Given the description of an element on the screen output the (x, y) to click on. 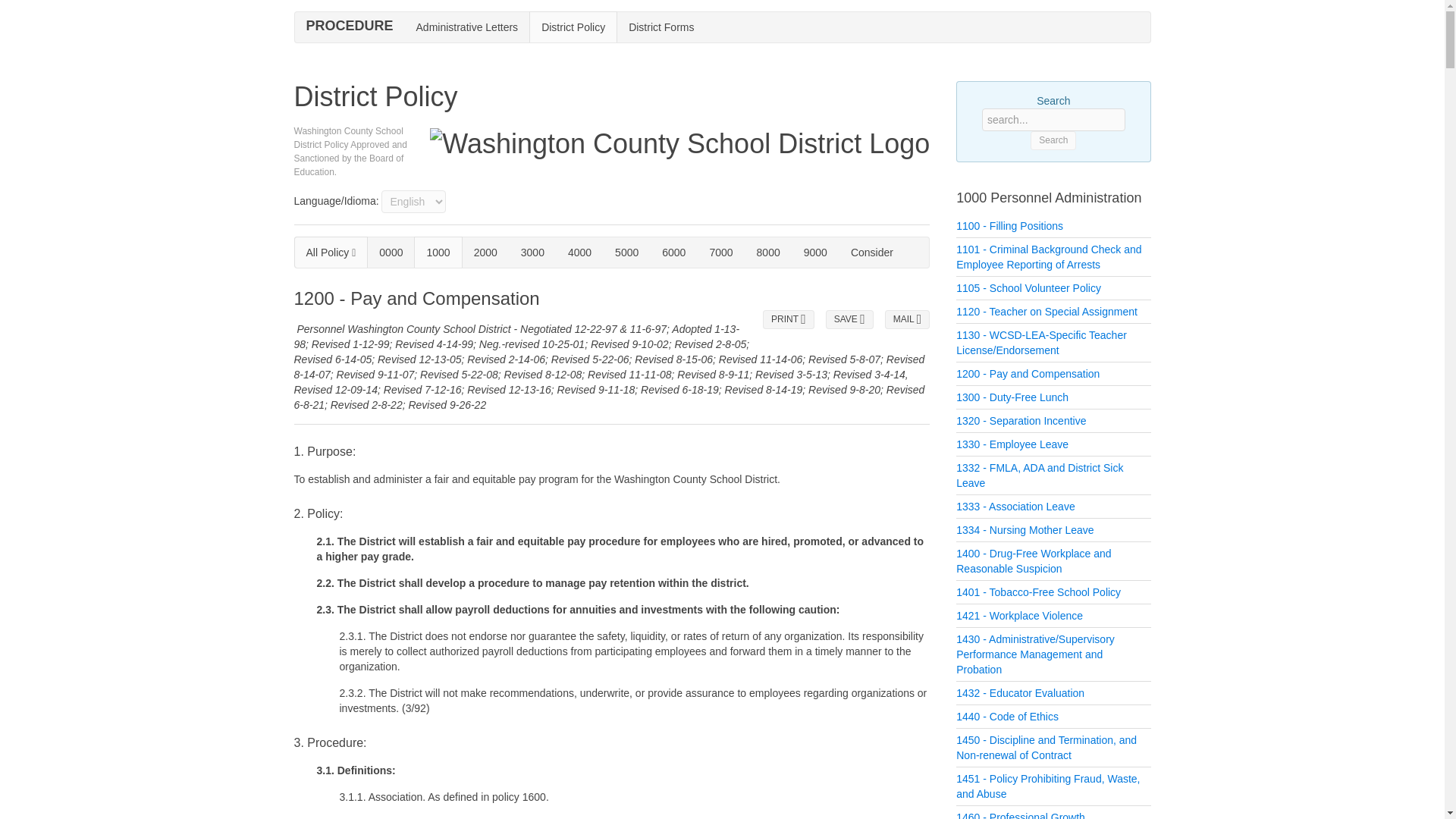
MAIL (907, 319)
1300 - Duty-Free Lunch (1012, 397)
1333 - Association Leave (1015, 506)
1400 - Drug-Free Workplace and Reasonable Suspicion (1033, 560)
1334 - Nursing Mother Leave (1024, 530)
SAVE (849, 319)
Administrative Letters (467, 26)
District Forms (660, 26)
District Policy (573, 26)
4000 (580, 251)
9000 (816, 251)
1401 - Tobacco-Free School Policy (1038, 592)
8000 (768, 251)
1421 - Workplace Violence (1019, 615)
7000 (720, 251)
